Given the description of an element on the screen output the (x, y) to click on. 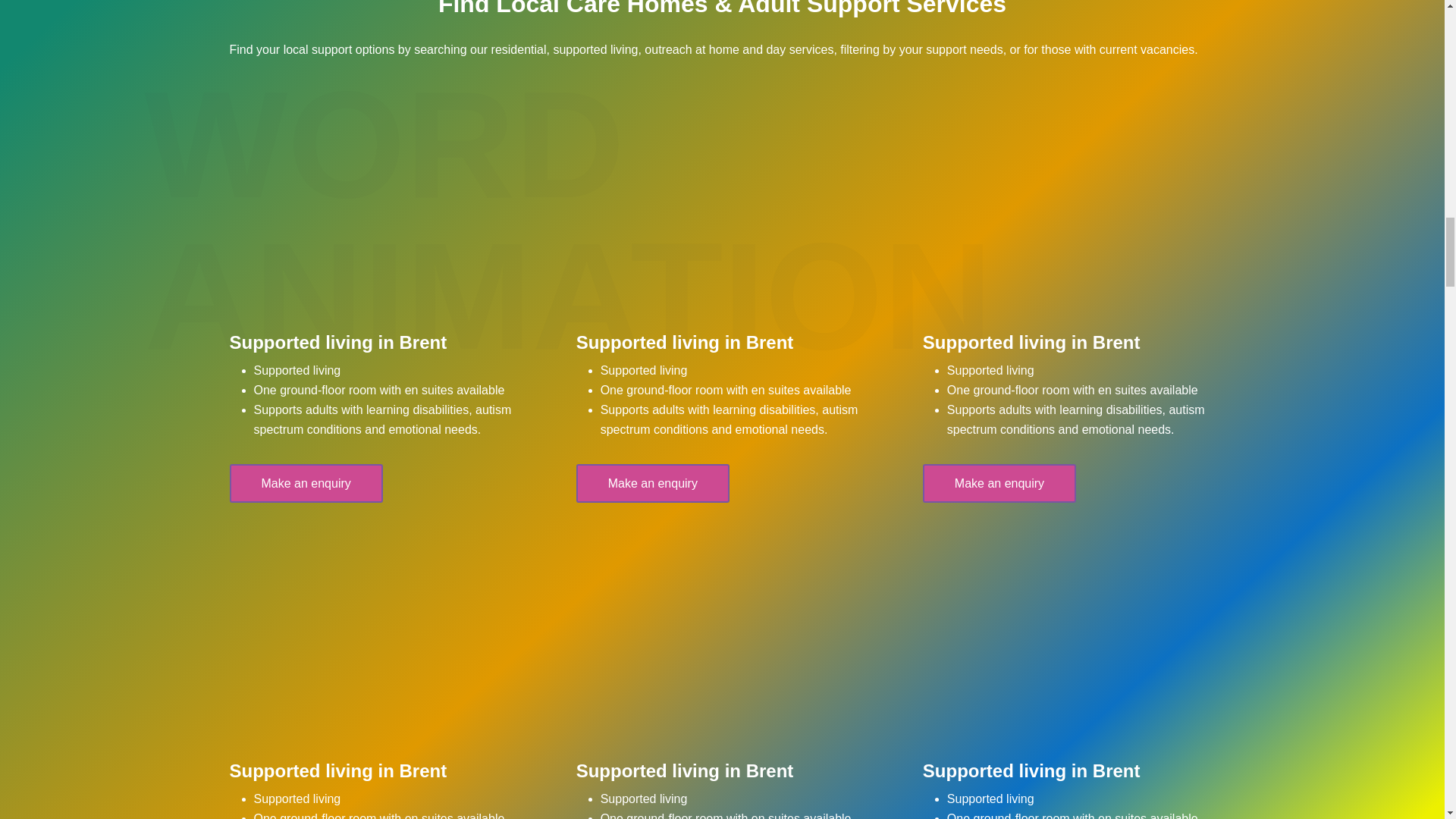
Make an enquiry (652, 483)
Make an enquiry (304, 483)
Make an enquiry (999, 483)
